Given the description of an element on the screen output the (x, y) to click on. 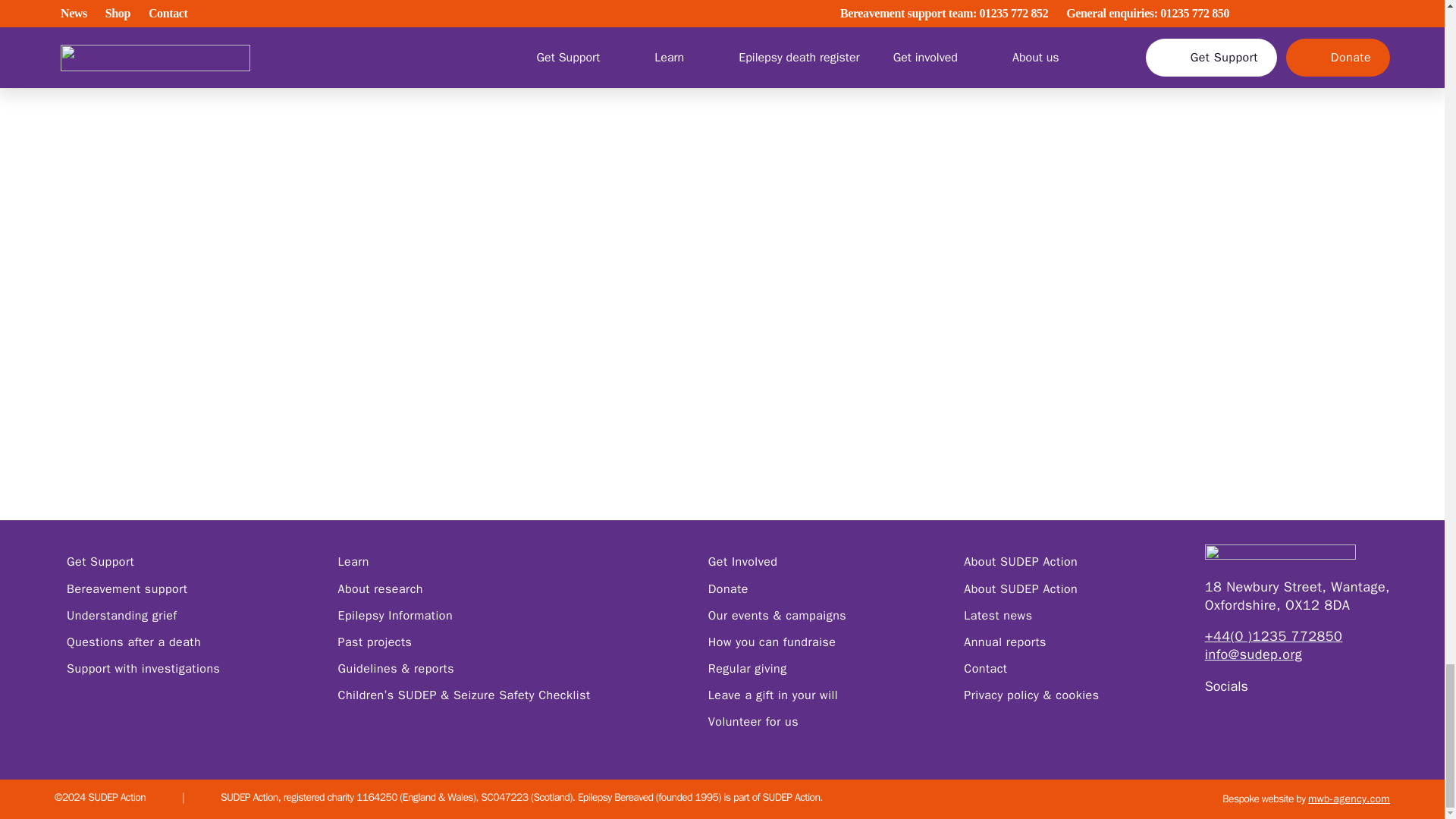
Bespoke website (1258, 798)
MWB Agency (1348, 798)
Go to the homepage (1297, 554)
